Given the description of an element on the screen output the (x, y) to click on. 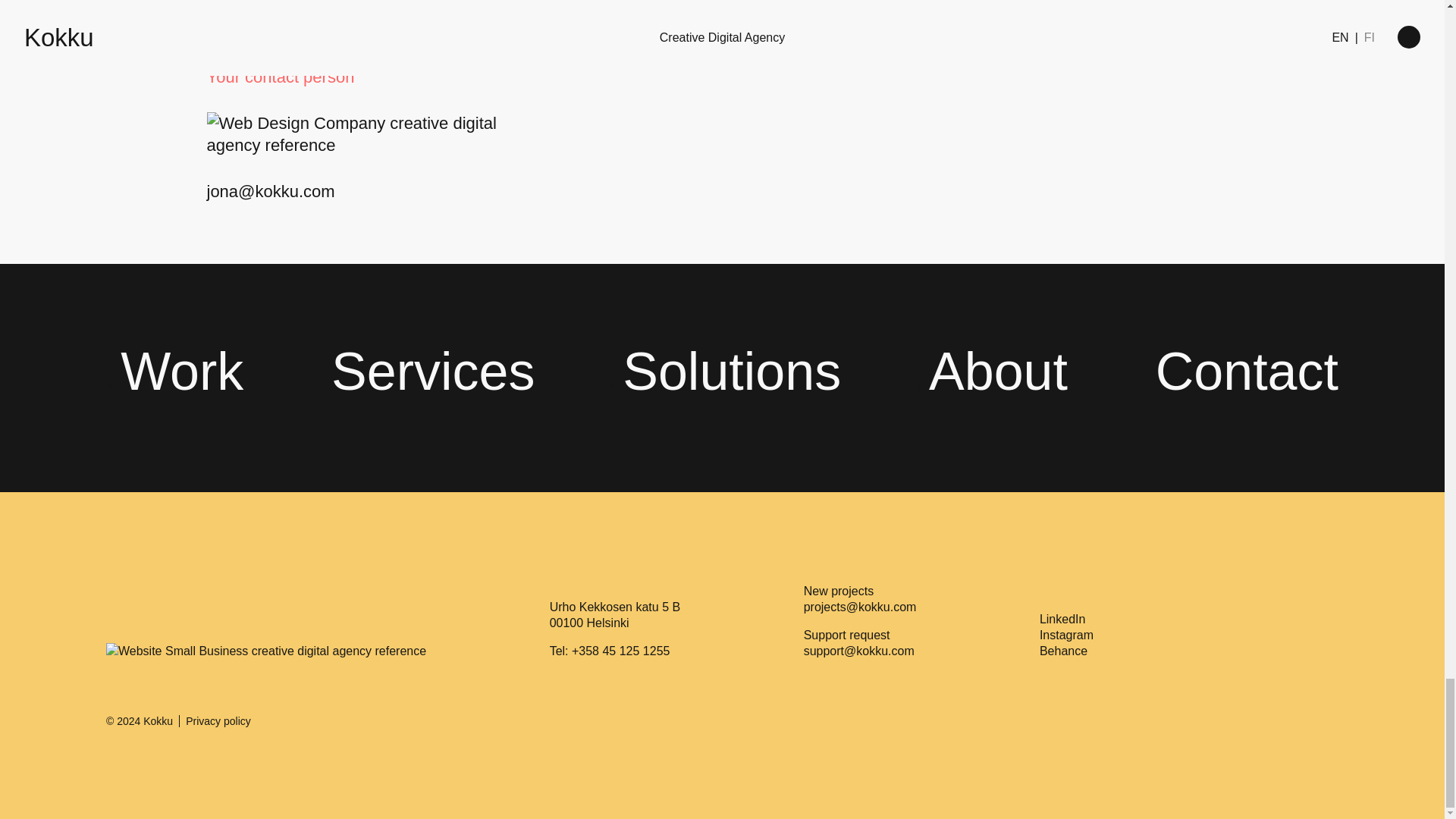
Solutions (732, 371)
Services (432, 371)
Behance (1063, 650)
Instagram (1066, 634)
Work (181, 371)
LinkedIn (1062, 618)
Contact (1247, 371)
Privacy policy (218, 721)
About (997, 371)
